Given the description of an element on the screen output the (x, y) to click on. 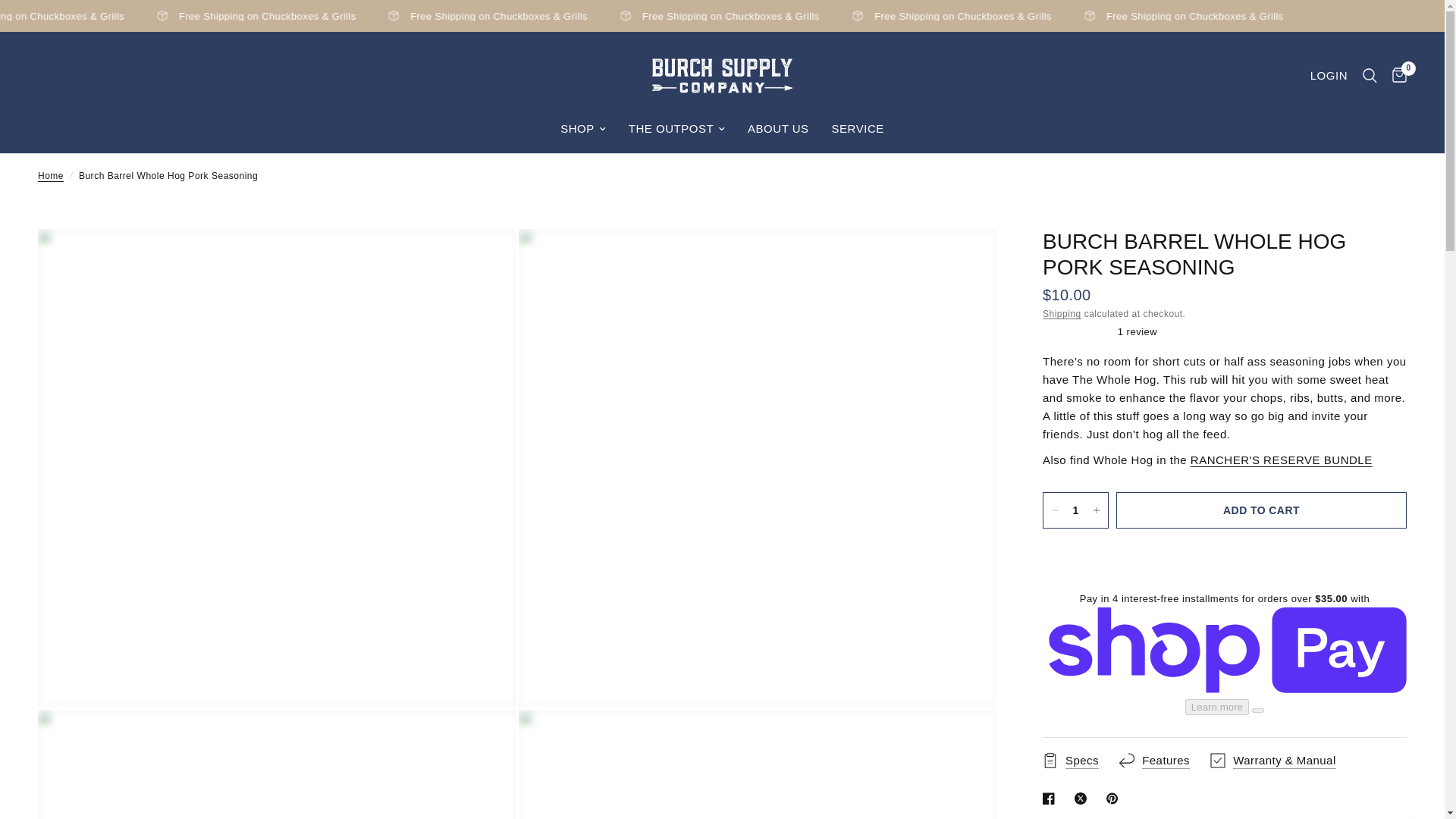
The Outpost (676, 128)
ABOUT US (778, 128)
THE OUTPOST (676, 128)
1 review (1224, 331)
SHOP (582, 128)
Home (50, 175)
RANCHER'S RESERVE BUNDLE (1282, 459)
SERVICE (857, 128)
Shipping (1061, 313)
Shop (582, 128)
